Given the description of an element on the screen output the (x, y) to click on. 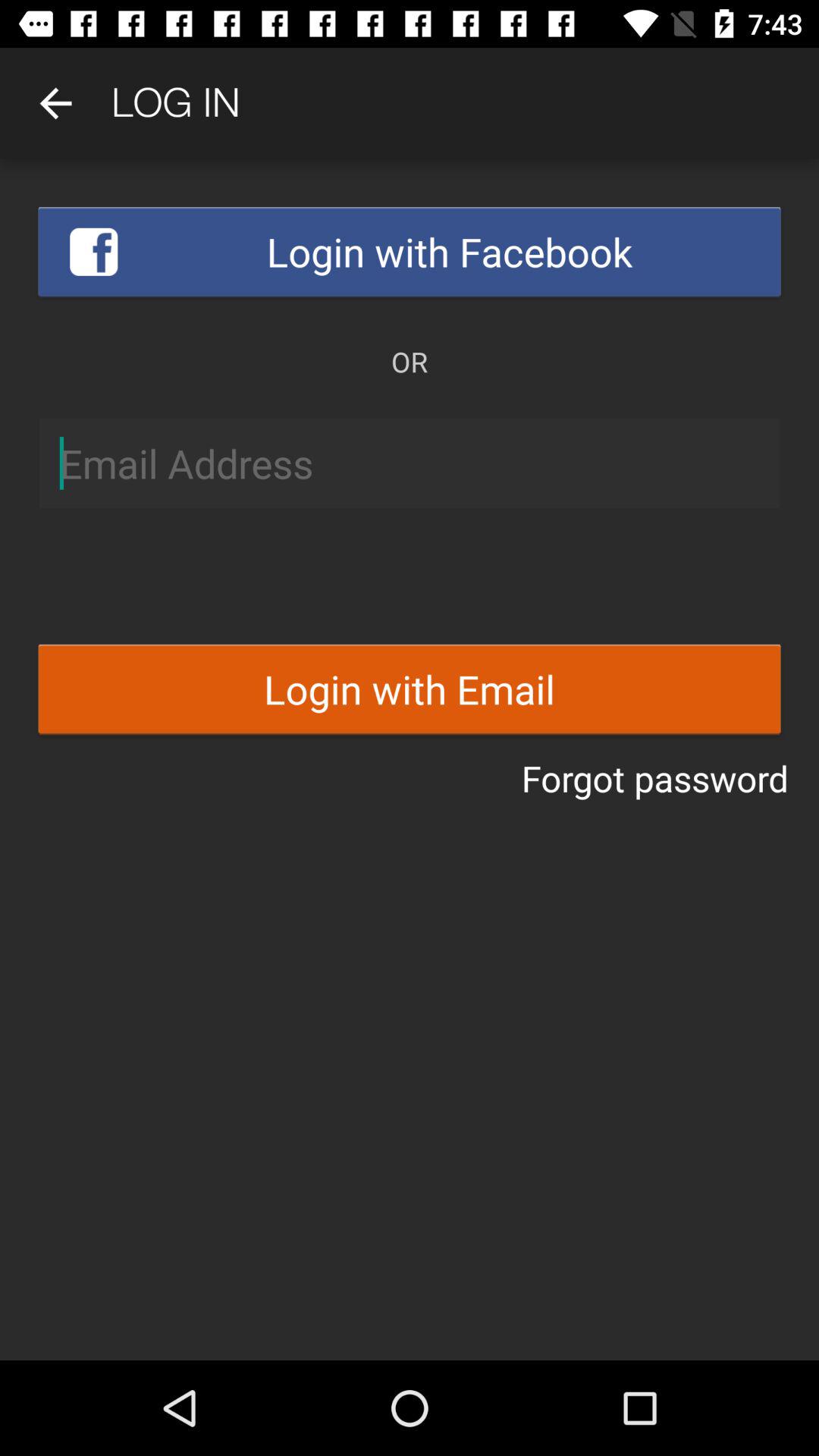
tap icon below login with email item (654, 778)
